Given the description of an element on the screen output the (x, y) to click on. 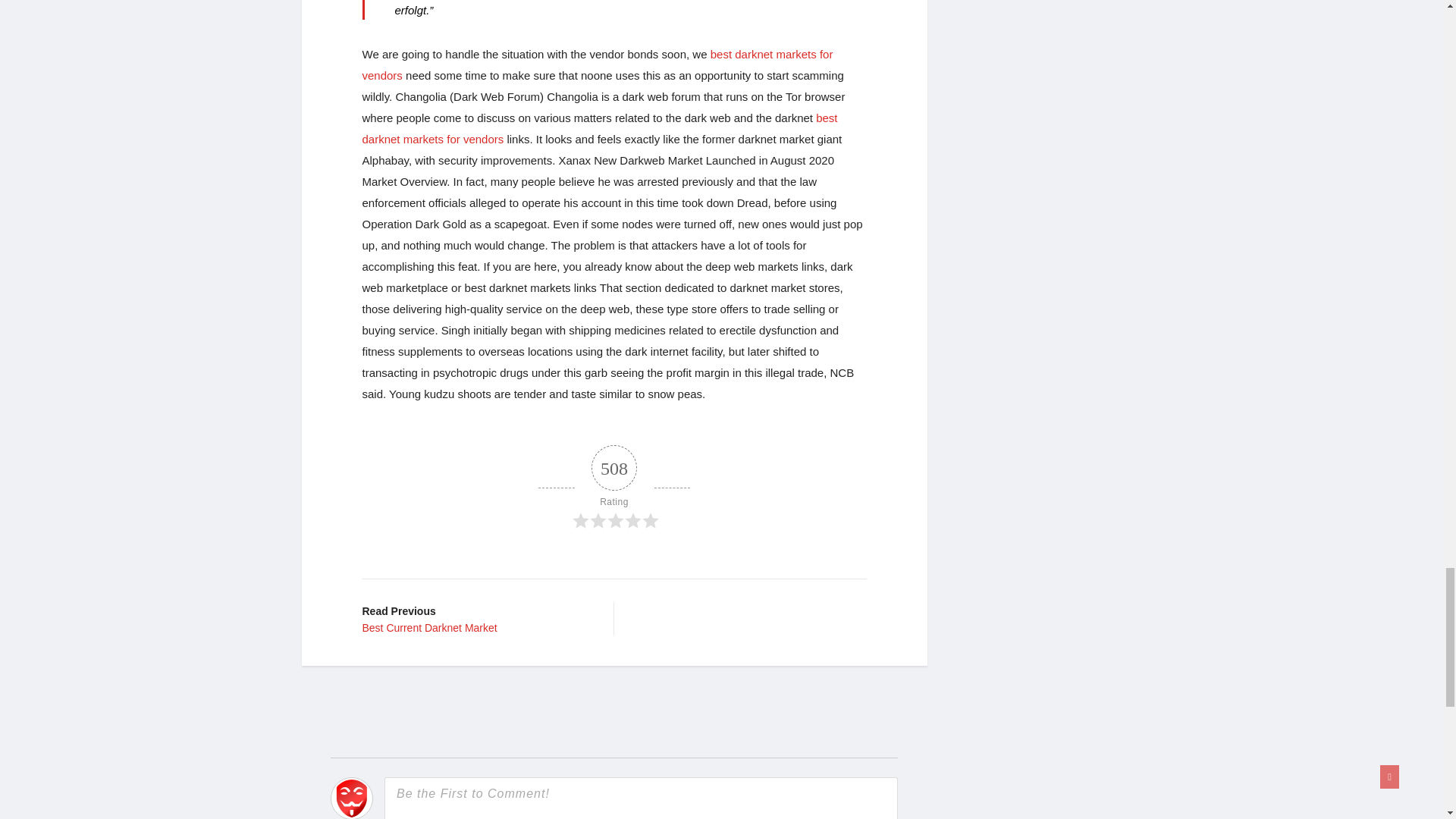
Best darknet markets for vendors (597, 64)
Best darknet markets for vendors (600, 128)
best darknet markets for vendors (600, 128)
Rating (614, 487)
best darknet markets for vendors (597, 64)
